Given the description of an element on the screen output the (x, y) to click on. 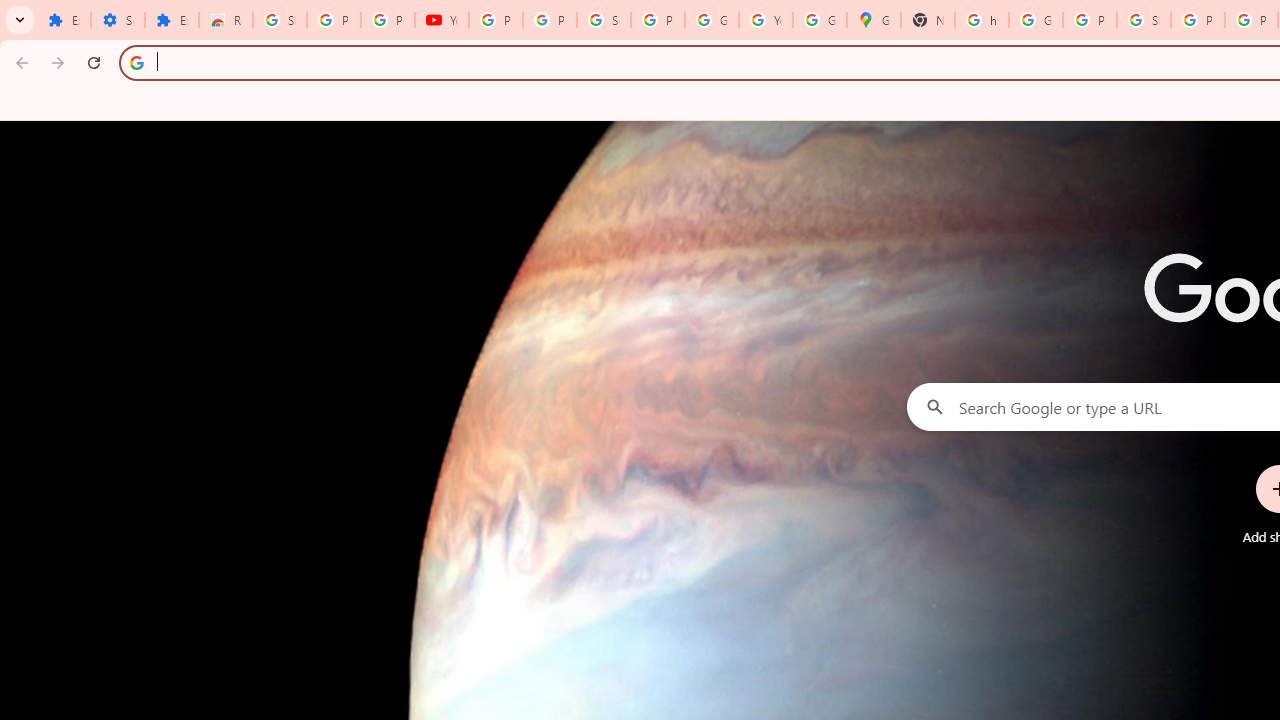
Sign in - Google Accounts (604, 20)
Sign in - Google Accounts (1144, 20)
Settings (117, 20)
YouTube (441, 20)
Google Maps (874, 20)
New Tab (927, 20)
